Given the description of an element on the screen output the (x, y) to click on. 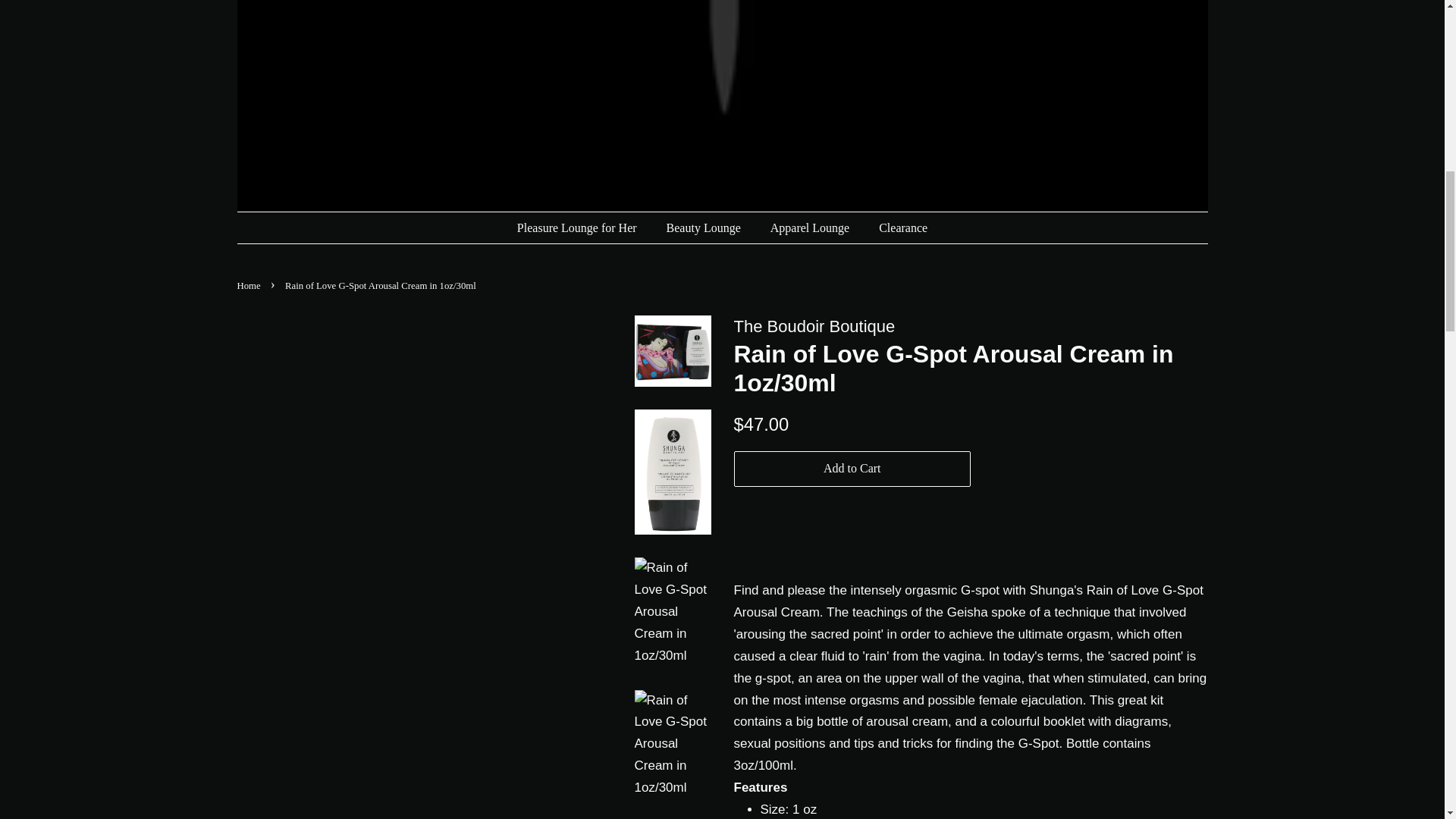
Clearance (897, 227)
Pleasure Lounge for Her (584, 227)
Add to Cart (852, 468)
Beauty Lounge (705, 227)
Home (249, 285)
Back to the frontpage (249, 285)
Apparel Lounge (811, 227)
